Given the description of an element on the screen output the (x, y) to click on. 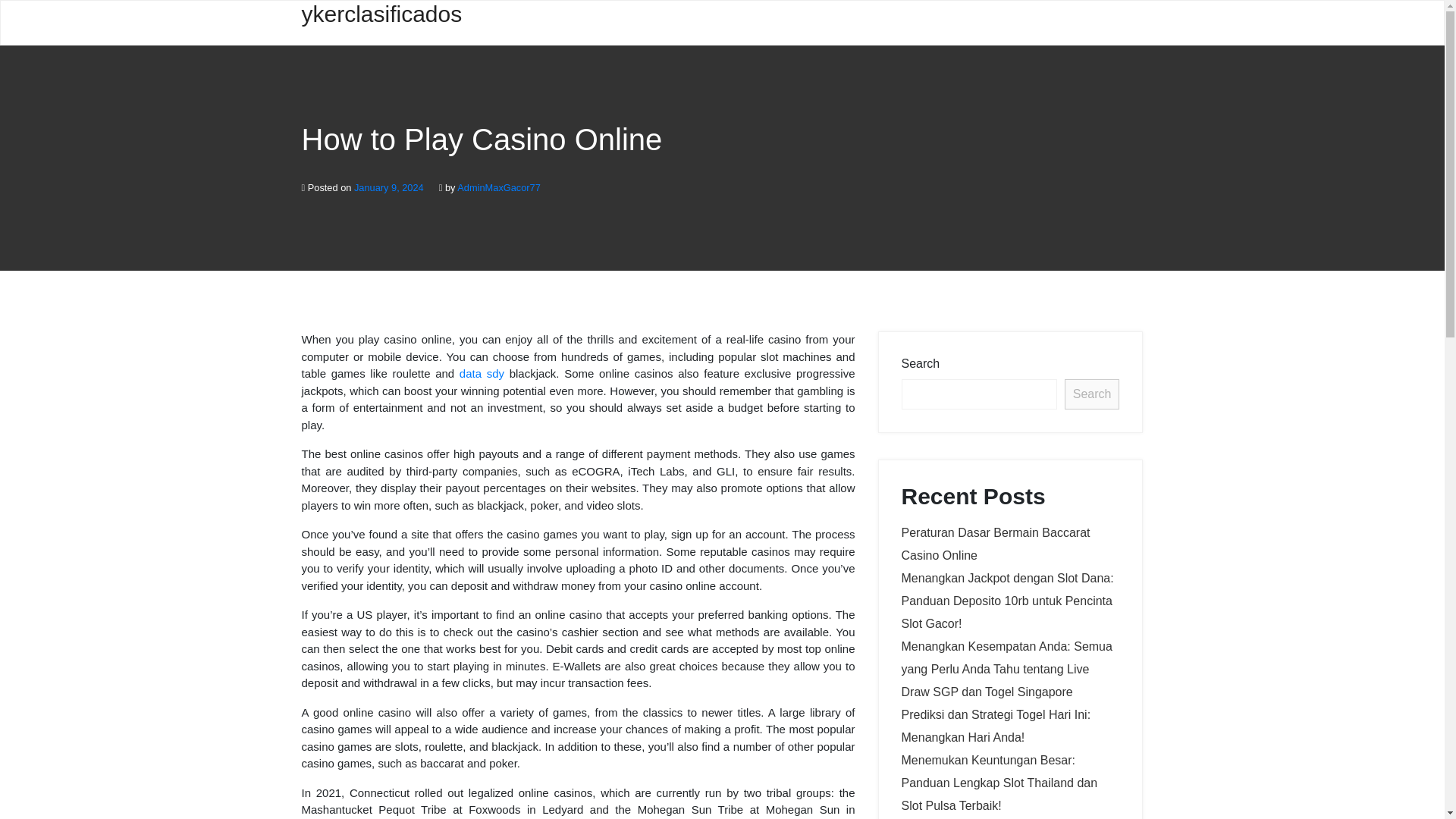
Prediksi dan Strategi Togel Hari Ini: Menangkan Hari Anda! (995, 725)
January 9, 2024 (388, 187)
Peraturan Dasar Bermain Baccarat Casino Online (995, 543)
ykerclasificados (382, 22)
Search (1091, 394)
AdminMaxGacor77 (498, 187)
data sdy (481, 373)
